Given the description of an element on the screen output the (x, y) to click on. 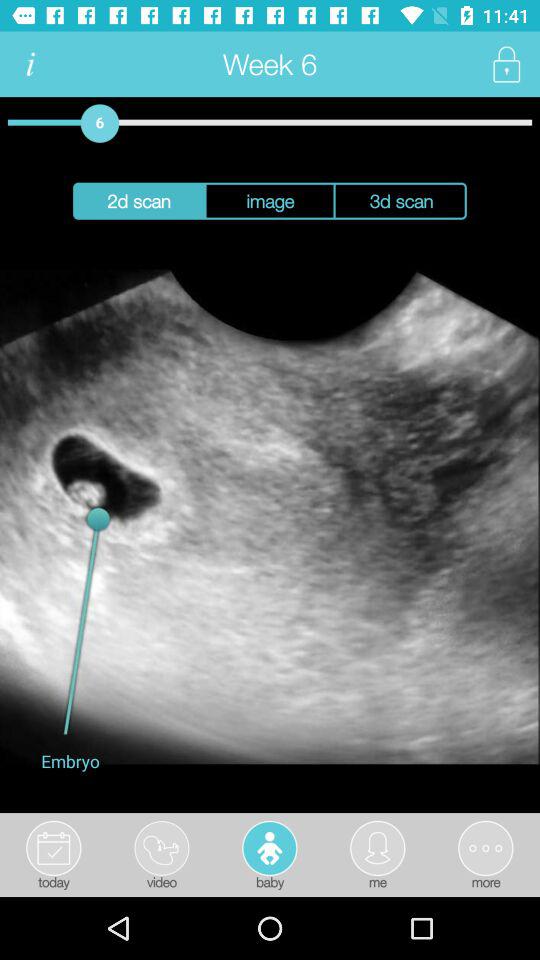
tap icon to the right of week 6 (506, 63)
